Given the description of an element on the screen output the (x, y) to click on. 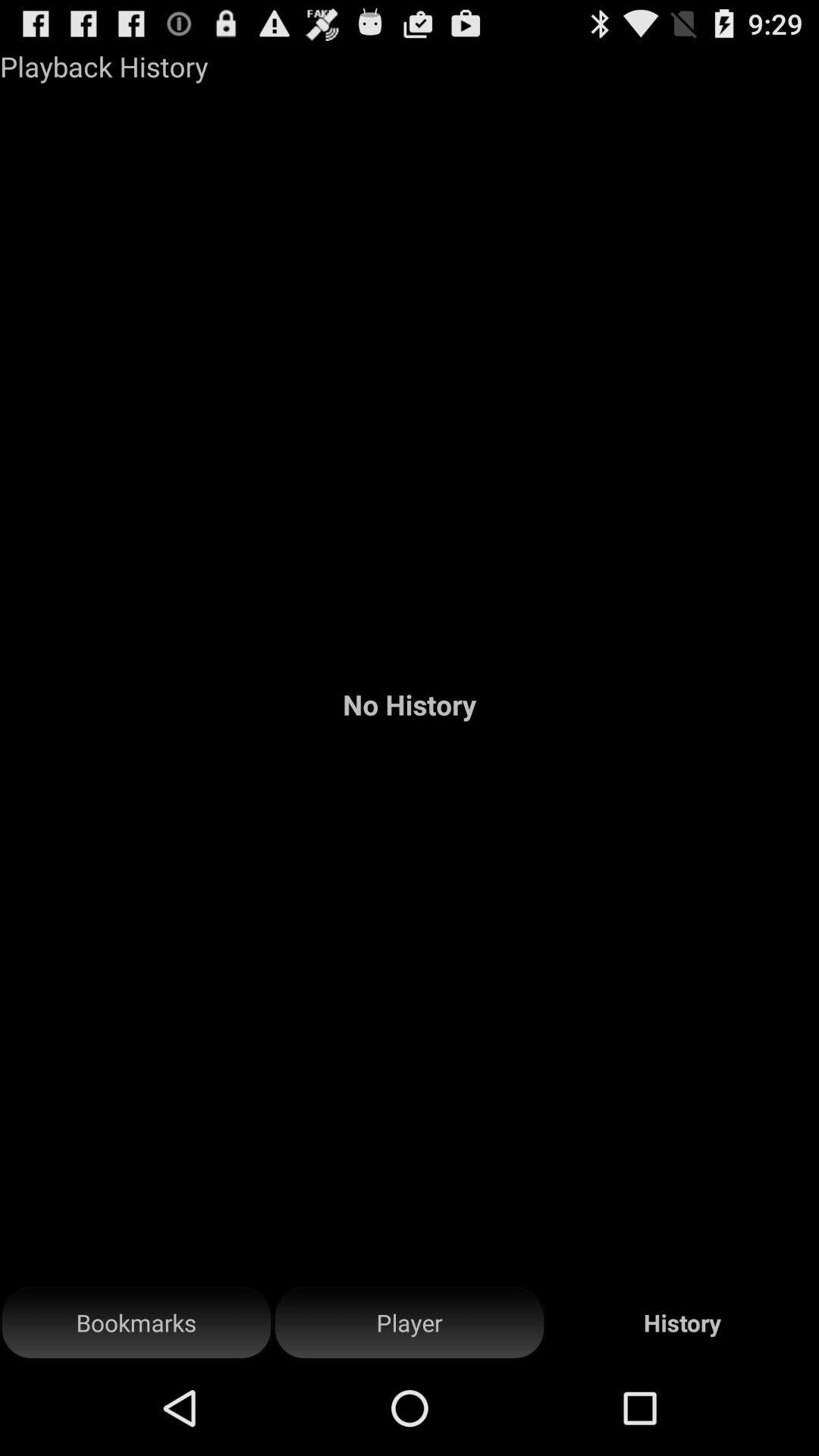
turn off bookmarks icon (136, 1323)
